Given the description of an element on the screen output the (x, y) to click on. 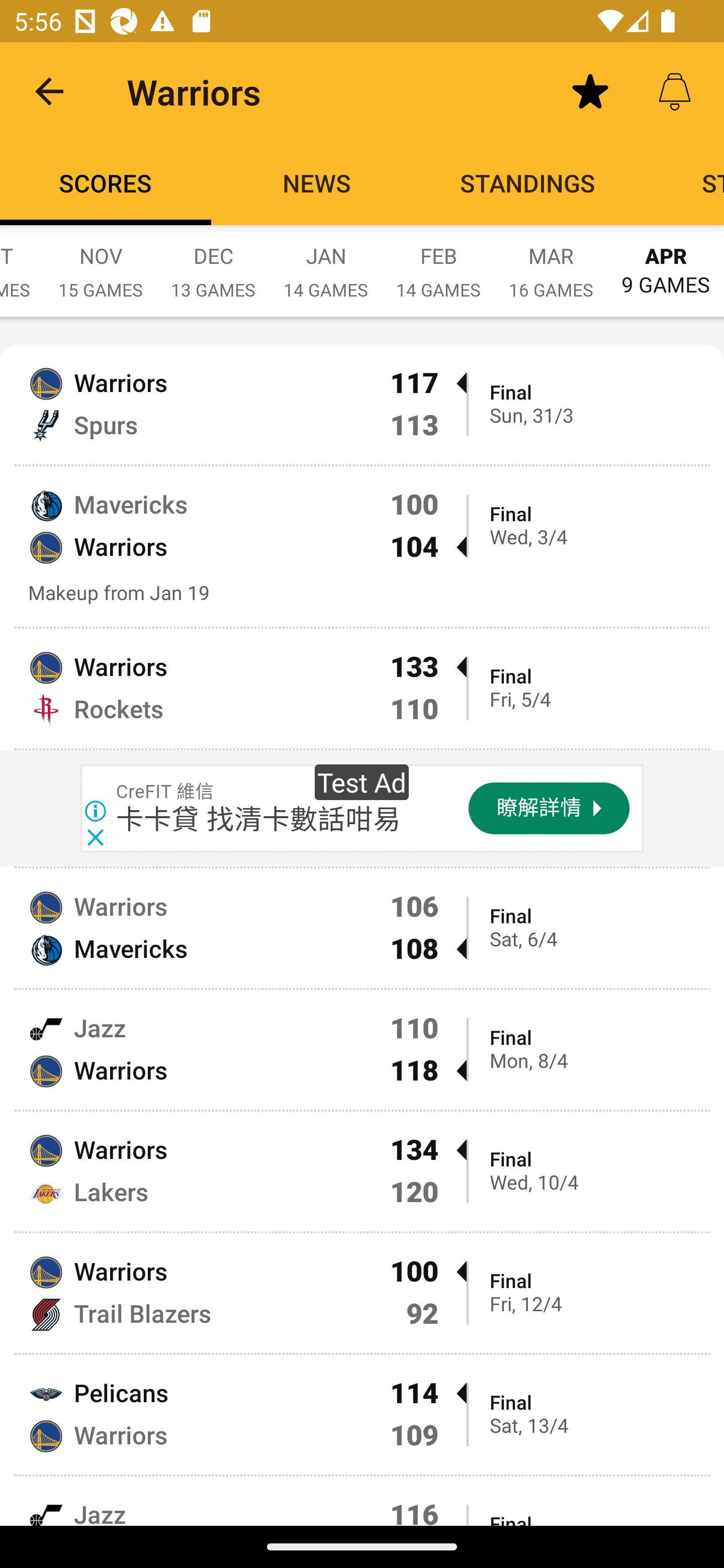
back.button (49, 90)
Favorite toggle (590, 90)
Alerts (674, 90)
News NEWS (316, 183)
Standings STANDINGS (527, 183)
NOV 15 GAMES (100, 262)
DEC 13 GAMES (213, 262)
JAN 14 GAMES (325, 262)
FEB 14 GAMES (438, 262)
MAR 16 GAMES (550, 262)
APR 9 GAMES (665, 261)
Warriors 117  Spurs 113 Final Sun, 31/3 (362, 404)
Warriors 133  Rockets 110 Final Fri, 5/4 (362, 687)
CreFIT 維信 (165, 790)
瞭解詳情 (549, 808)
卡卡貸 找清卡數話咁易 (258, 818)
Warriors 106 Mavericks 108  Final Sat, 6/4 (362, 927)
Jazz 110 Warriors 118  Final Mon, 8/4 (362, 1049)
Warriors 134  Lakers 120 Final Wed, 10/4 (362, 1170)
Warriors 100  Trail Blazers 92 Final Fri, 12/4 (362, 1293)
Pelicans 114  Warriors 109 Final Sat, 13/4 (362, 1413)
